Given the description of an element on the screen output the (x, y) to click on. 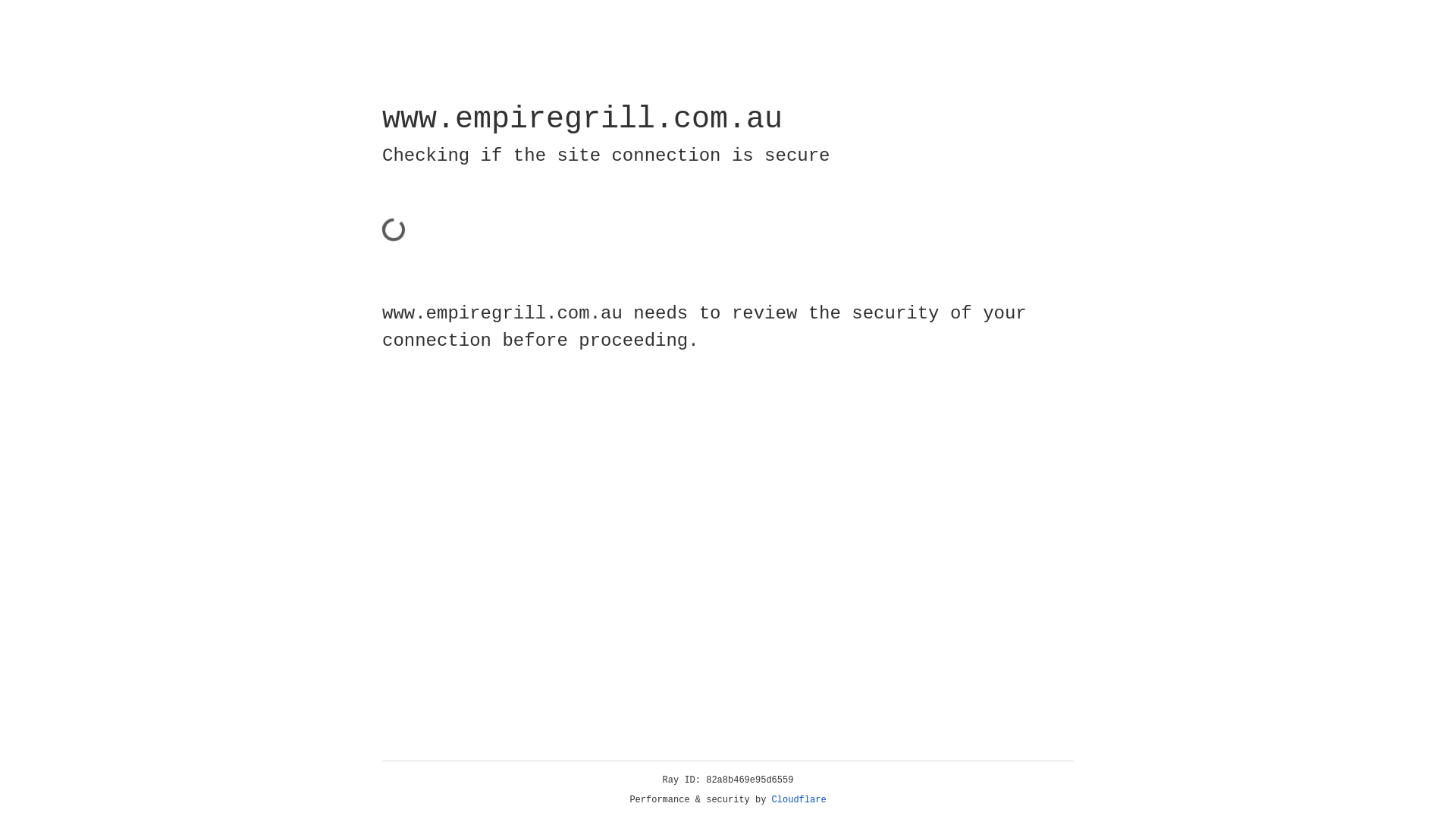
Cloudflare Element type: text (798, 799)
